Given the description of an element on the screen output the (x, y) to click on. 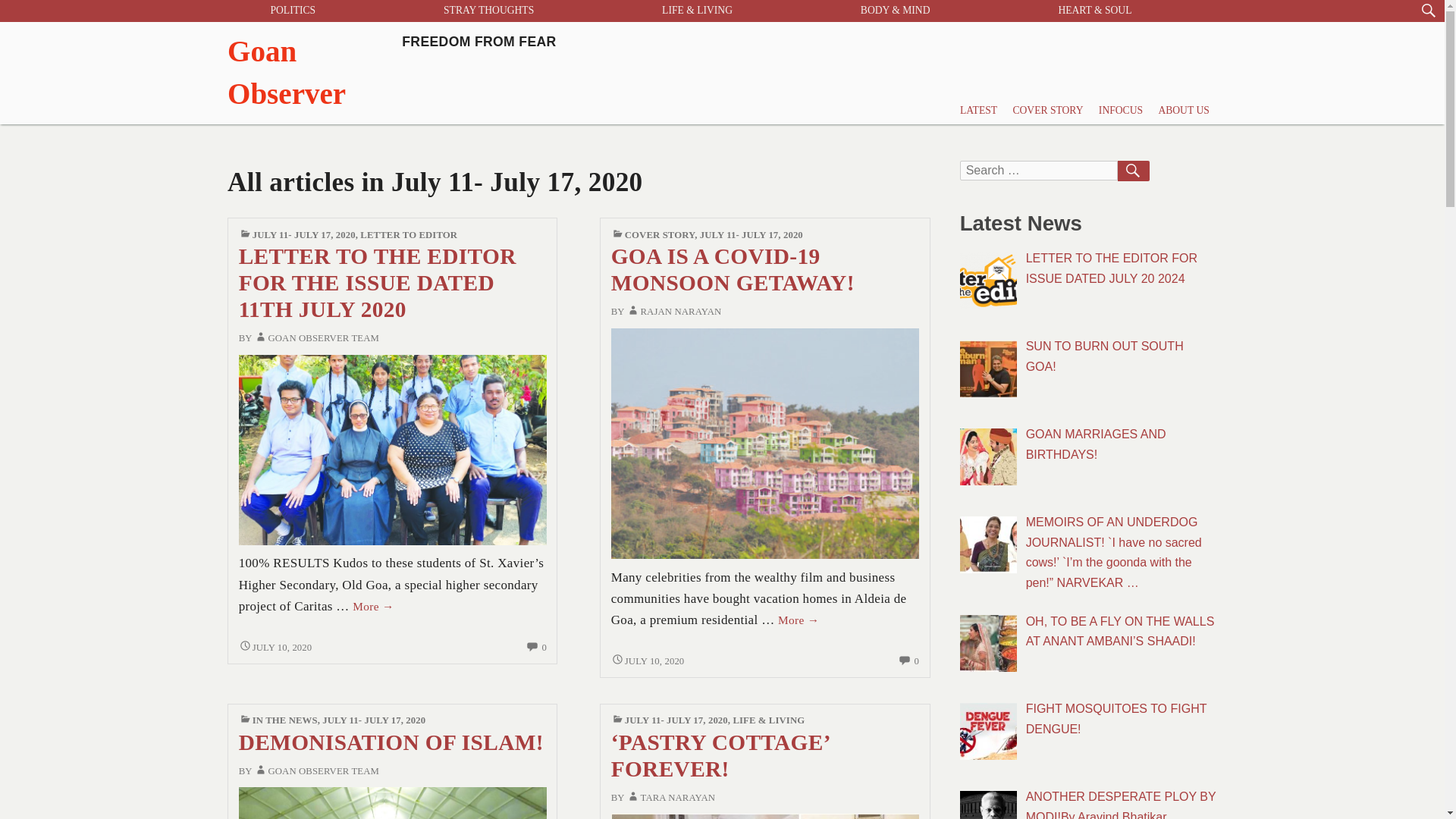
LATEST (978, 111)
LETTER TO THE EDITOR FOR THE ISSUE DATED 11TH JULY 2020 (377, 283)
DEMONISATION OF ISLAM! (390, 742)
JULY 11- JULY 17, 2020 (373, 719)
ABOUT US (647, 661)
JULY 11- JULY 17, 2020 (1183, 111)
LETTER TO EDITOR (751, 235)
GOA IS A COVID-19 MONSOON GETAWAY! (408, 235)
JULY 11- JULY 17, 2020 (764, 441)
INFOCUS (401, 73)
RAJAN NARAYAN (303, 235)
COVER STORY (1120, 111)
